Given the description of an element on the screen output the (x, y) to click on. 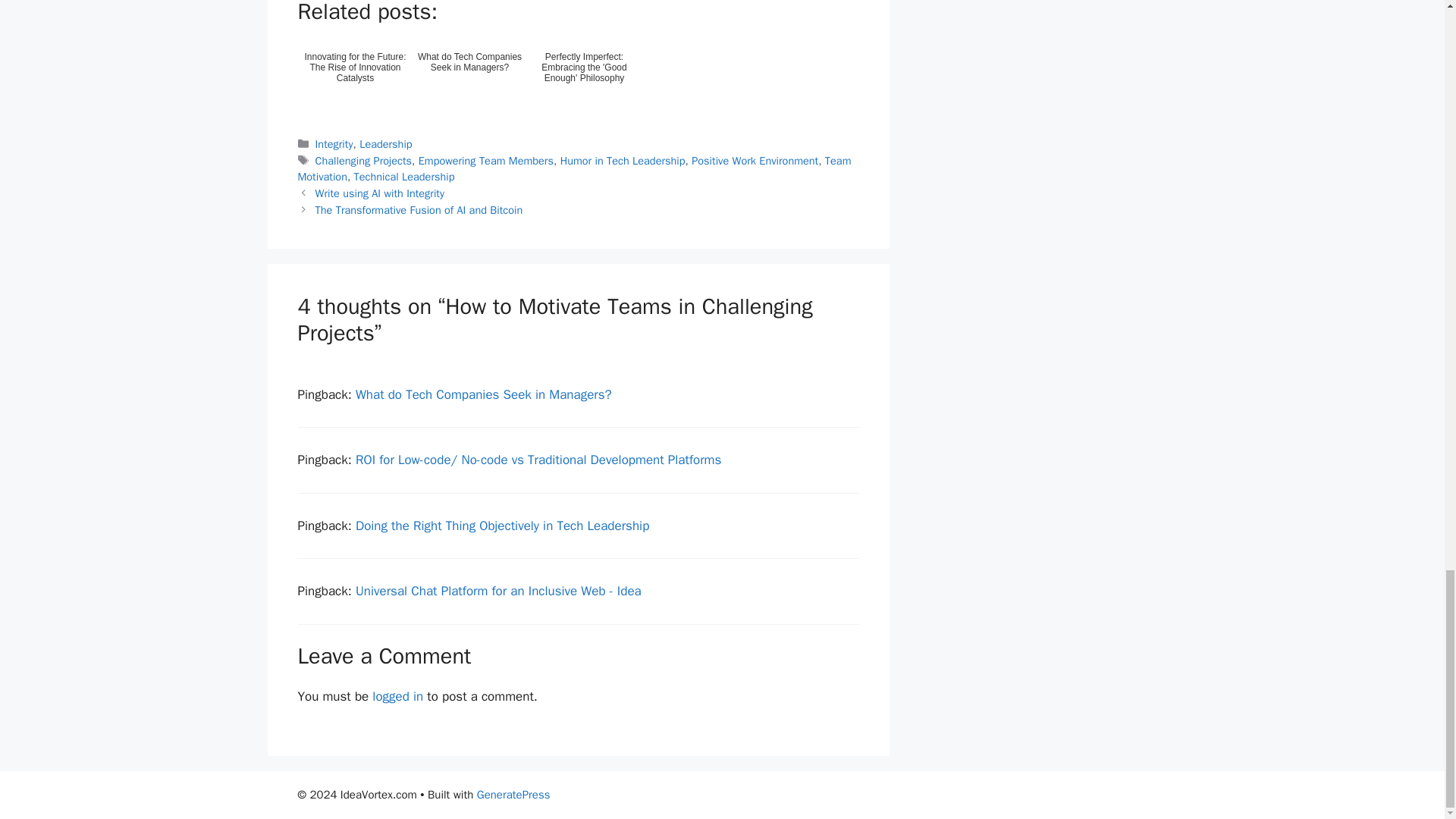
Leadership (385, 143)
The Transformative Fusion of AI and Bitcoin (418, 210)
Technical Leadership (403, 176)
Innovating for the Future: The Rise of Innovation Catalysts (354, 75)
What do Tech Companies Seek in Managers? (469, 75)
Perfectly Imperfect: Embracing the 'Good Enough' Philosophy (583, 75)
What do Tech Companies Seek in Managers? (483, 394)
Humor in Tech Leadership (622, 160)
Write using AI with Integrity (379, 192)
Challenging Projects (363, 160)
